Given the description of an element on the screen output the (x, y) to click on. 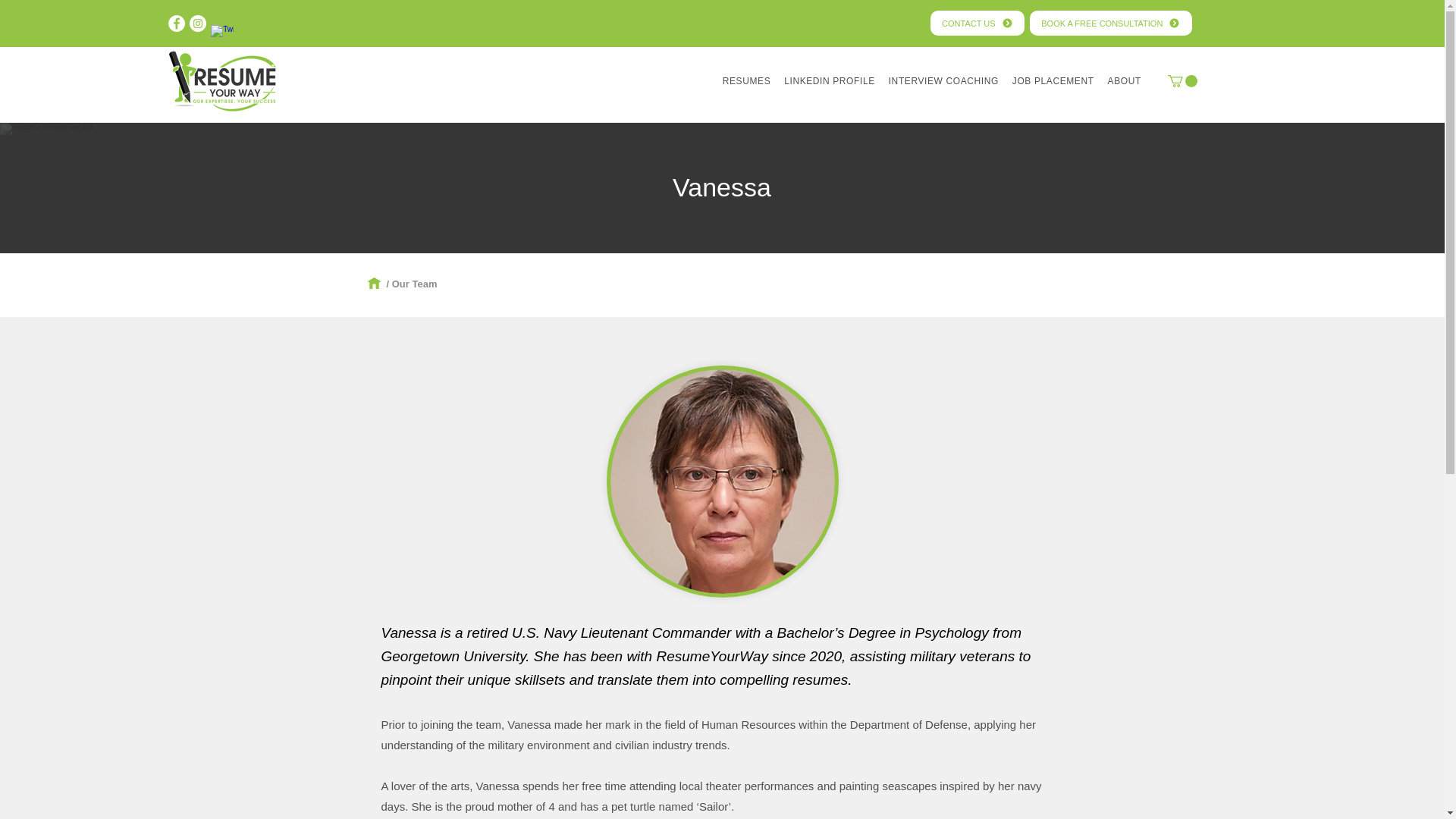
LINKEDIN PROFILE (829, 81)
Resume Your Way (222, 80)
CONTACT US (977, 23)
BOOK A FREE CONSULTATION (1110, 23)
INTERVIEW COACHING (944, 81)
JOB PLACEMENT (1053, 81)
Vanessa (722, 481)
